Given the description of an element on the screen output the (x, y) to click on. 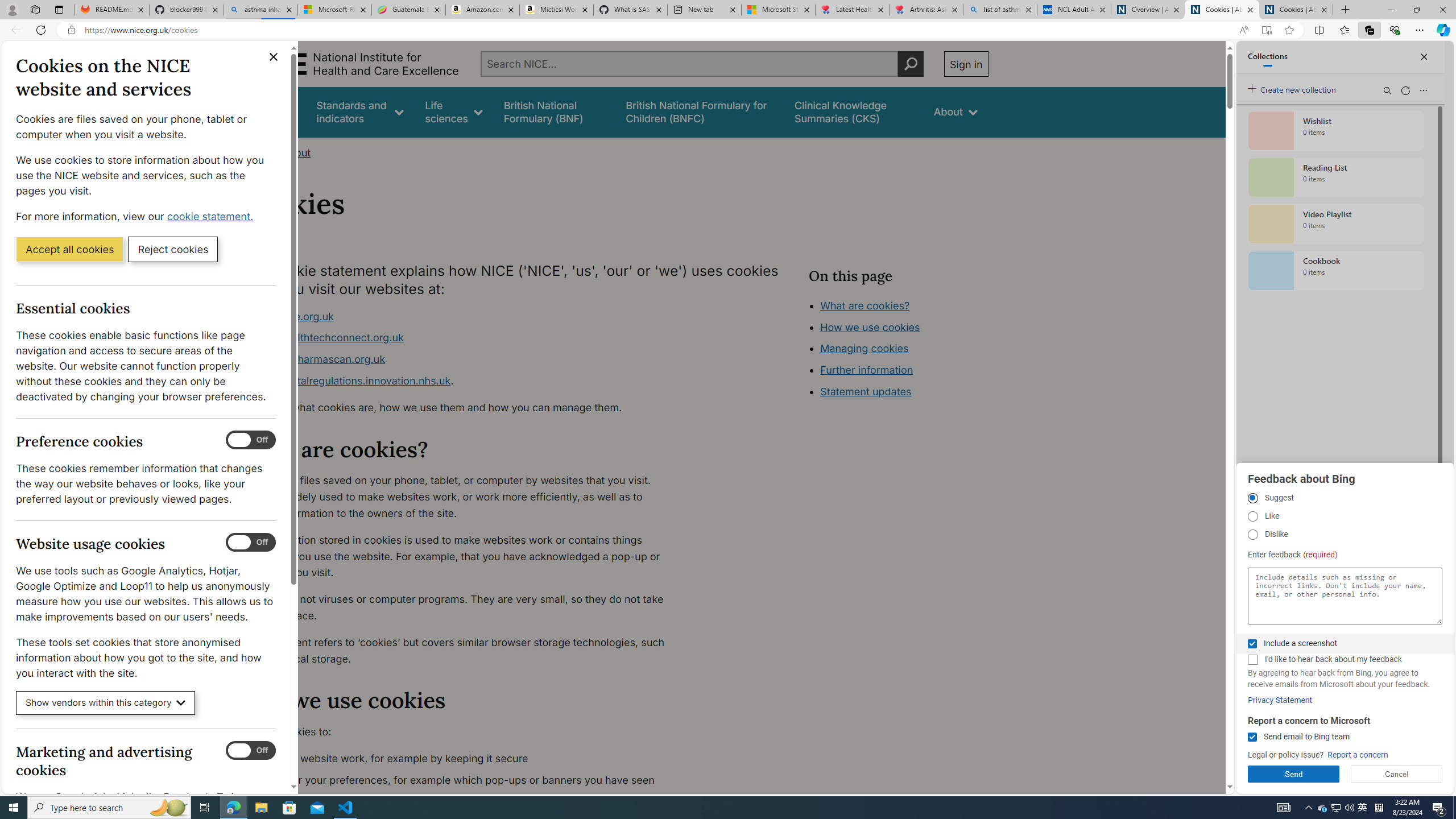
Cancel (1396, 773)
NCL Adult Asthma Inhaler Choice Guideline (1073, 9)
Arthritis: Ask Health Professionals (925, 9)
Sign in (965, 63)
make our website work, for example by keeping it secure (464, 759)
Guidance (272, 111)
www.healthtechconnect.org.uk (464, 338)
Reject cookies (173, 248)
